Given the description of an element on the screen output the (x, y) to click on. 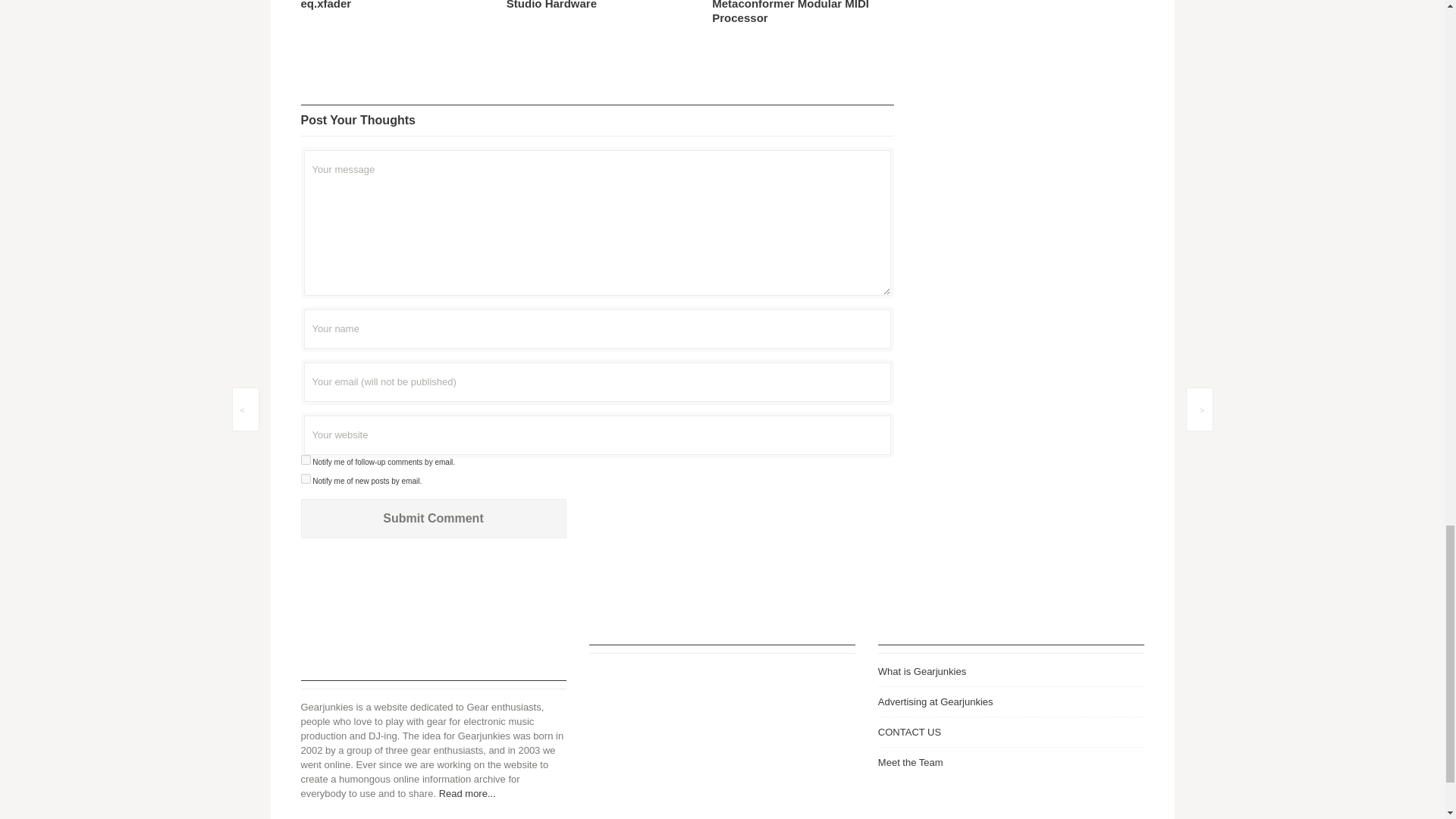
subscribe (304, 479)
subscribe (304, 460)
Submit Comment (432, 518)
